Given the description of an element on the screen output the (x, y) to click on. 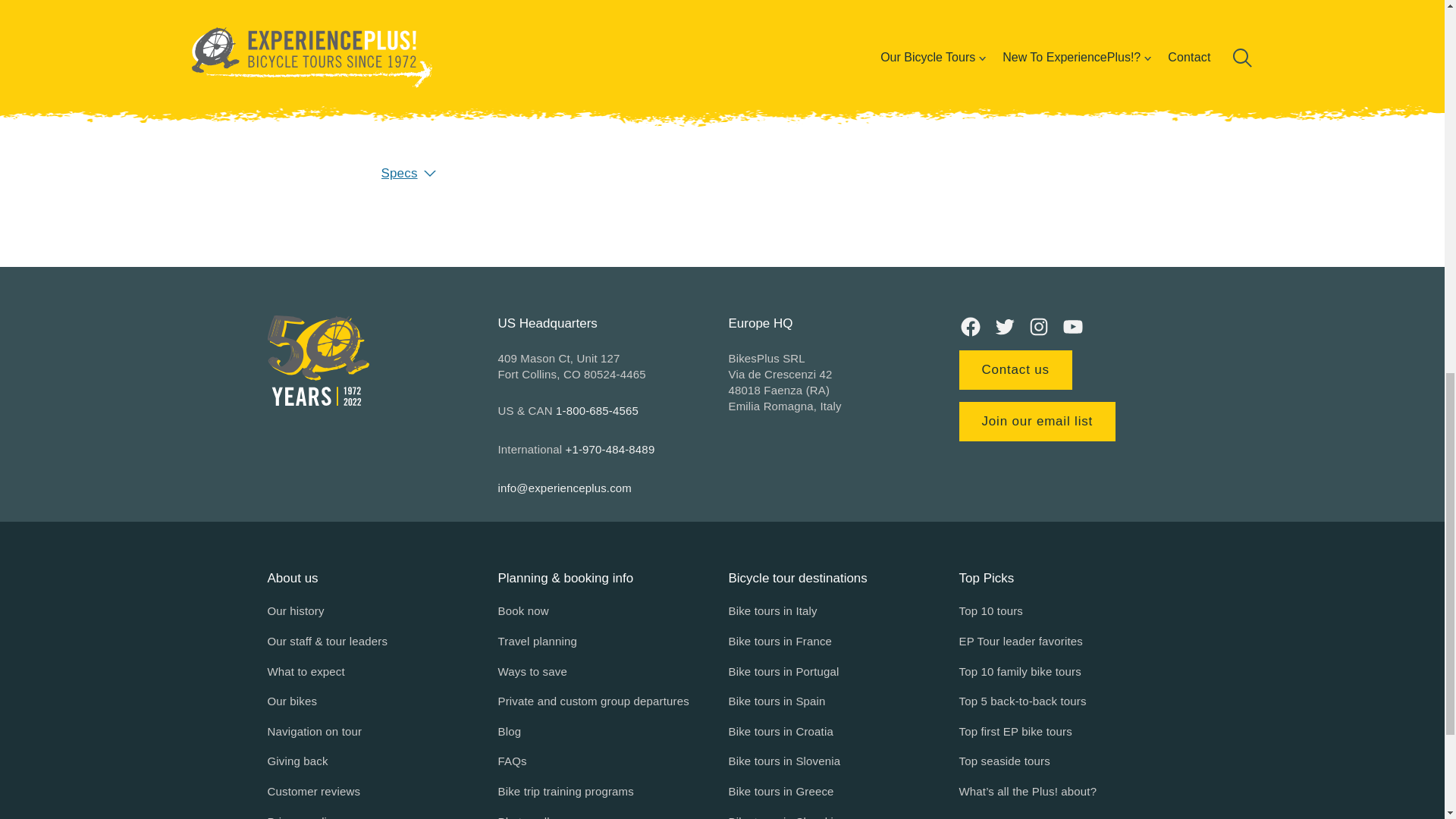
Instagram (1037, 326)
Contact us (1014, 369)
Click here. (614, 100)
Our history (294, 610)
Privacy policy (301, 815)
What to expect (304, 671)
Our bikes (291, 701)
Specs (721, 173)
Join our email list (1036, 421)
Twitter (1004, 326)
Book now (522, 610)
Navigation on tour (313, 731)
Customer reviews (312, 791)
Giving back (296, 761)
1-800-685-4565 (597, 410)
